Given the description of an element on the screen output the (x, y) to click on. 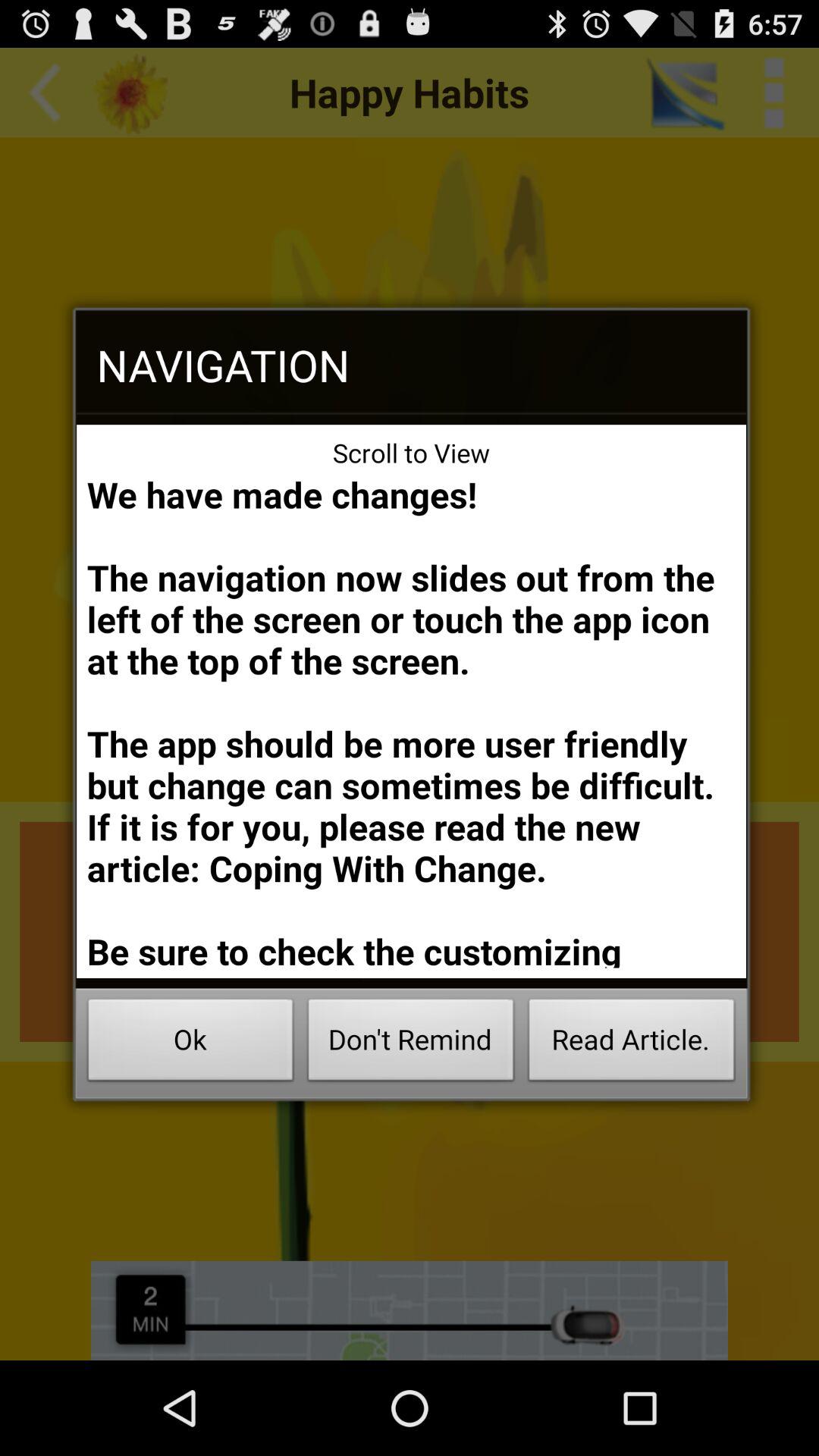
choose the button next to the ok (410, 1044)
